Given the description of an element on the screen output the (x, y) to click on. 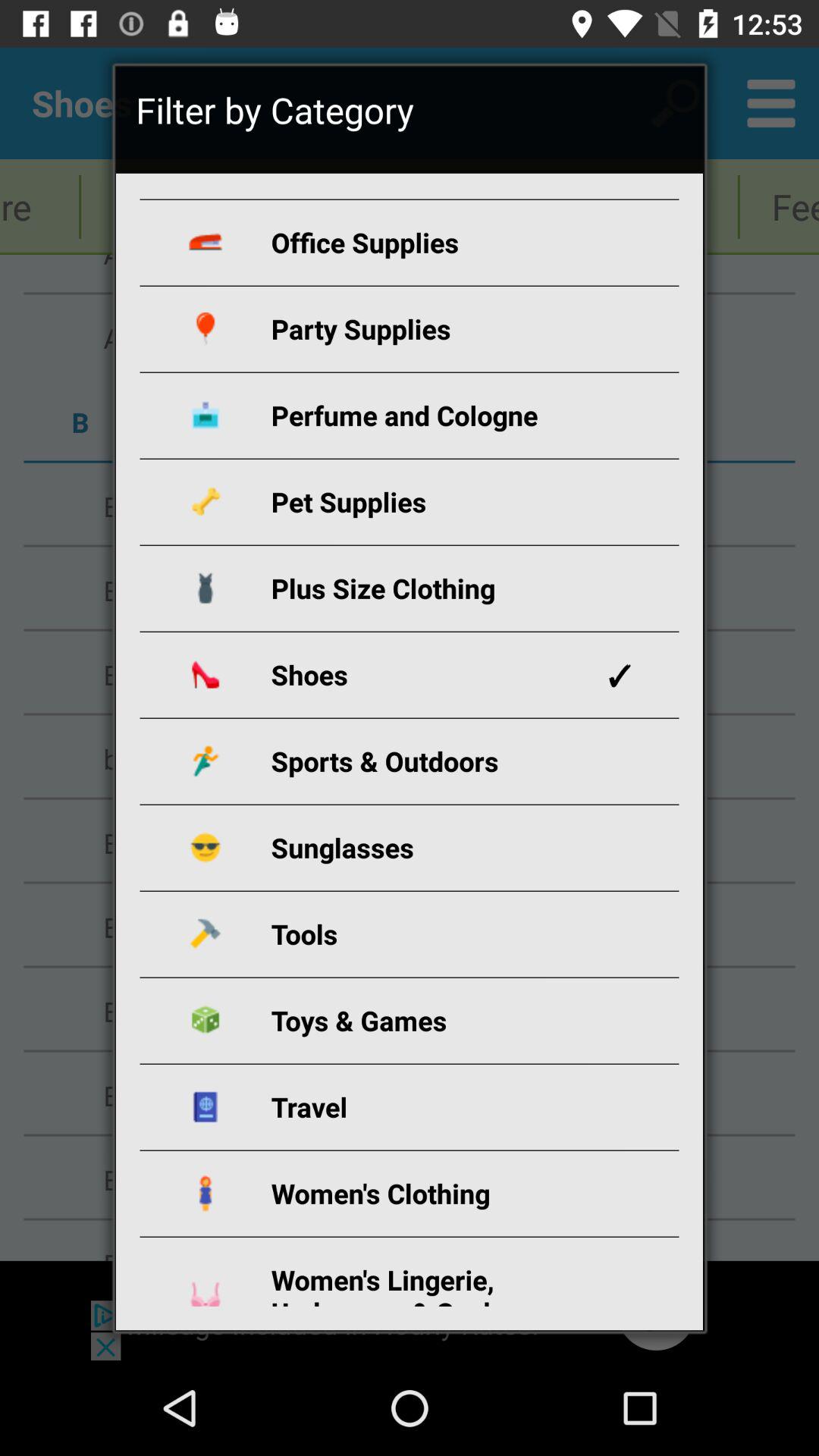
press the app above toys & games (427, 933)
